Given the description of an element on the screen output the (x, y) to click on. 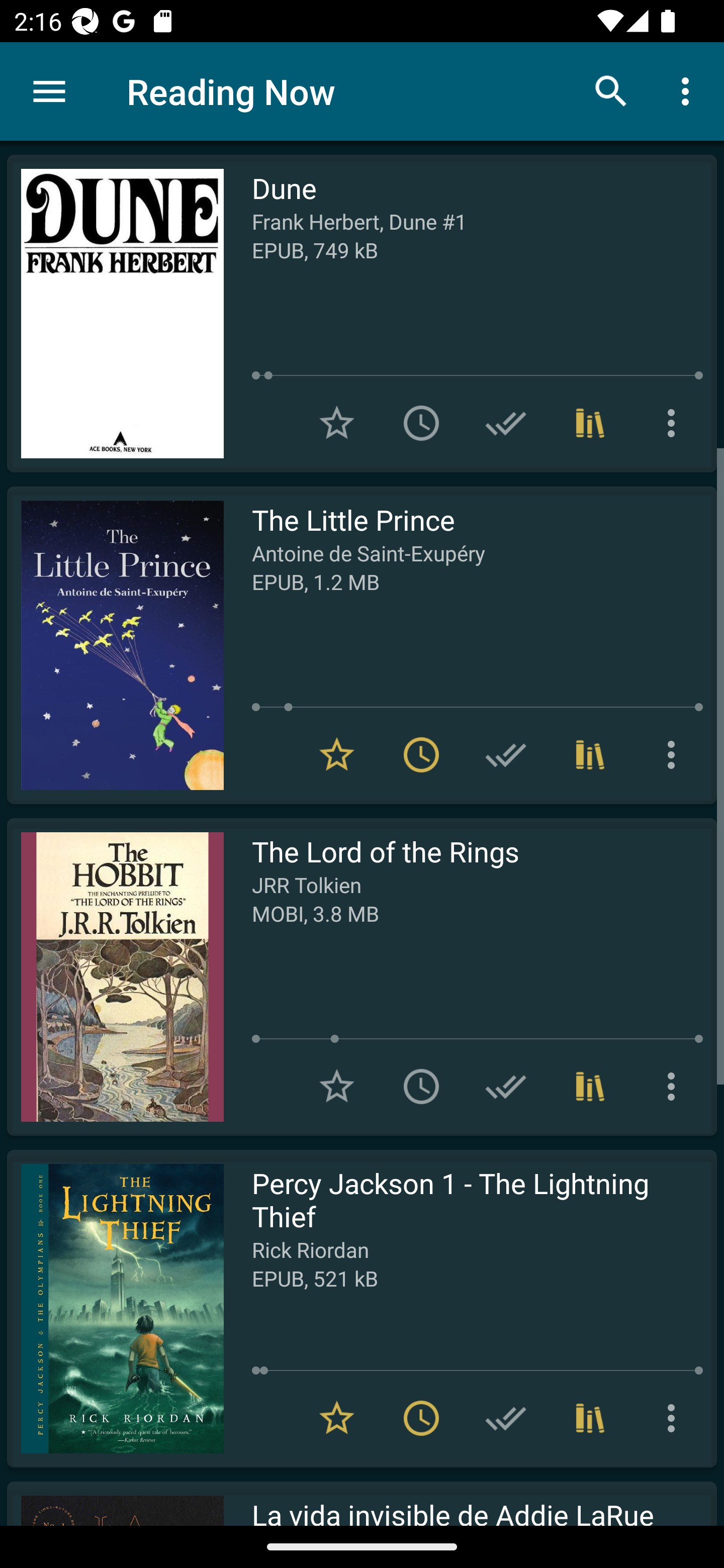
Menu (49, 91)
Search books & documents (611, 90)
More options (688, 90)
Read Dune (115, 313)
Add to Favorites (336, 423)
Add to To read (421, 423)
Add to Have read (505, 423)
Collections (1) (590, 423)
More options (674, 423)
Read The Little Prince (115, 645)
Remove from Favorites (336, 753)
Remove from To read (421, 753)
Add to Have read (505, 753)
Collections (1) (590, 753)
More options (674, 753)
Read The Lord of the Rings (115, 976)
Add to Favorites (336, 1086)
Add to To read (421, 1086)
Add to Have read (505, 1086)
Collections (1) (590, 1086)
More options (674, 1086)
Read Percy Jackson 1 - The Lightning Thief (115, 1308)
Remove from Favorites (336, 1417)
Remove from To read (421, 1417)
Add to Have read (505, 1417)
Collections (1) (590, 1417)
More options (674, 1417)
